Given the description of an element on the screen output the (x, y) to click on. 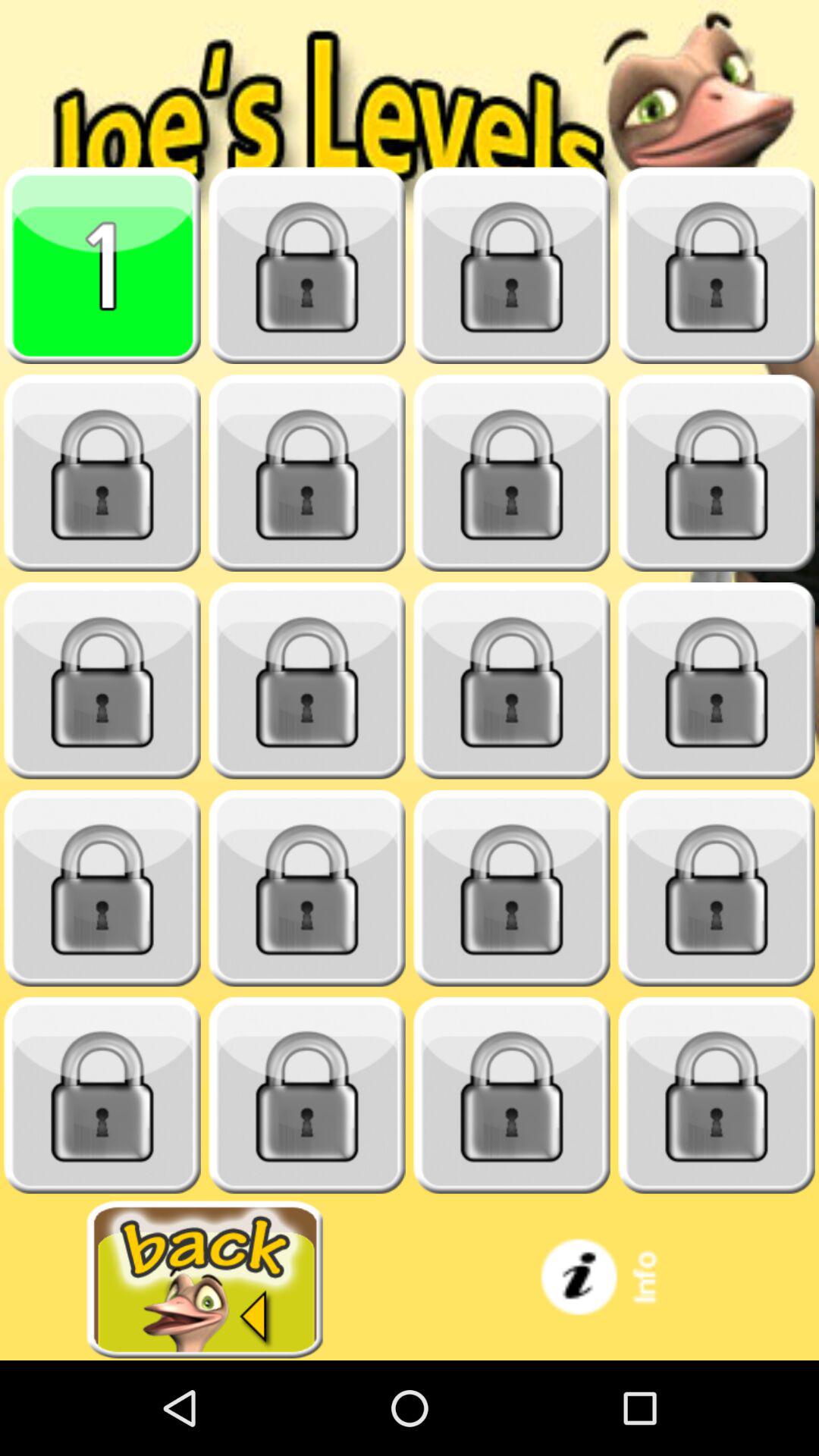
lock button (511, 887)
